Given the description of an element on the screen output the (x, y) to click on. 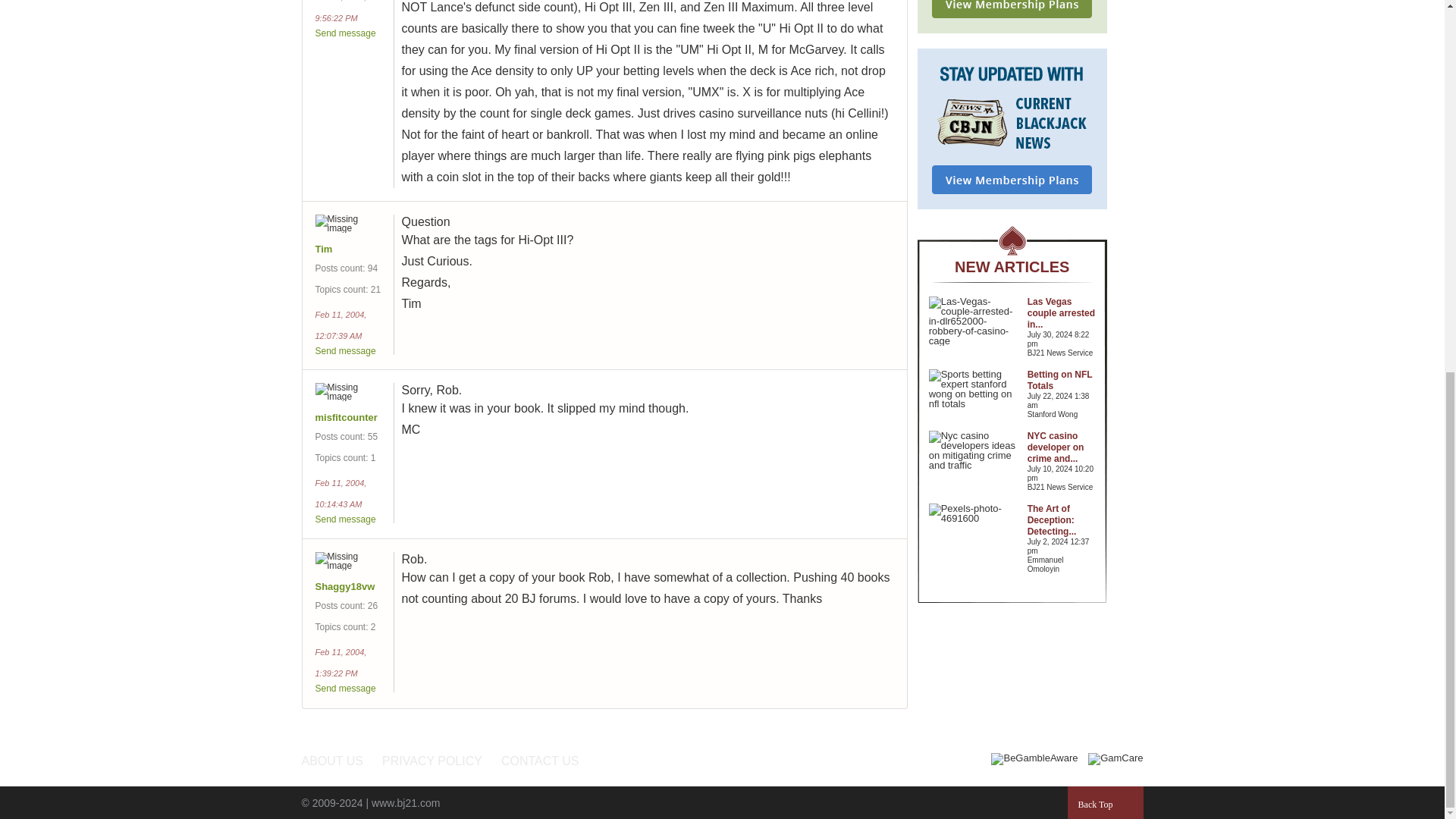
BJ21 News Service (1061, 487)
NYC casino developer on crime and traffic (1055, 447)
Betting on NFL Totals (1060, 380)
Emmanuel Omoloyin (1061, 565)
Stanford Wong (1061, 414)
BJ21 News Service (1061, 352)
